Given the description of an element on the screen output the (x, y) to click on. 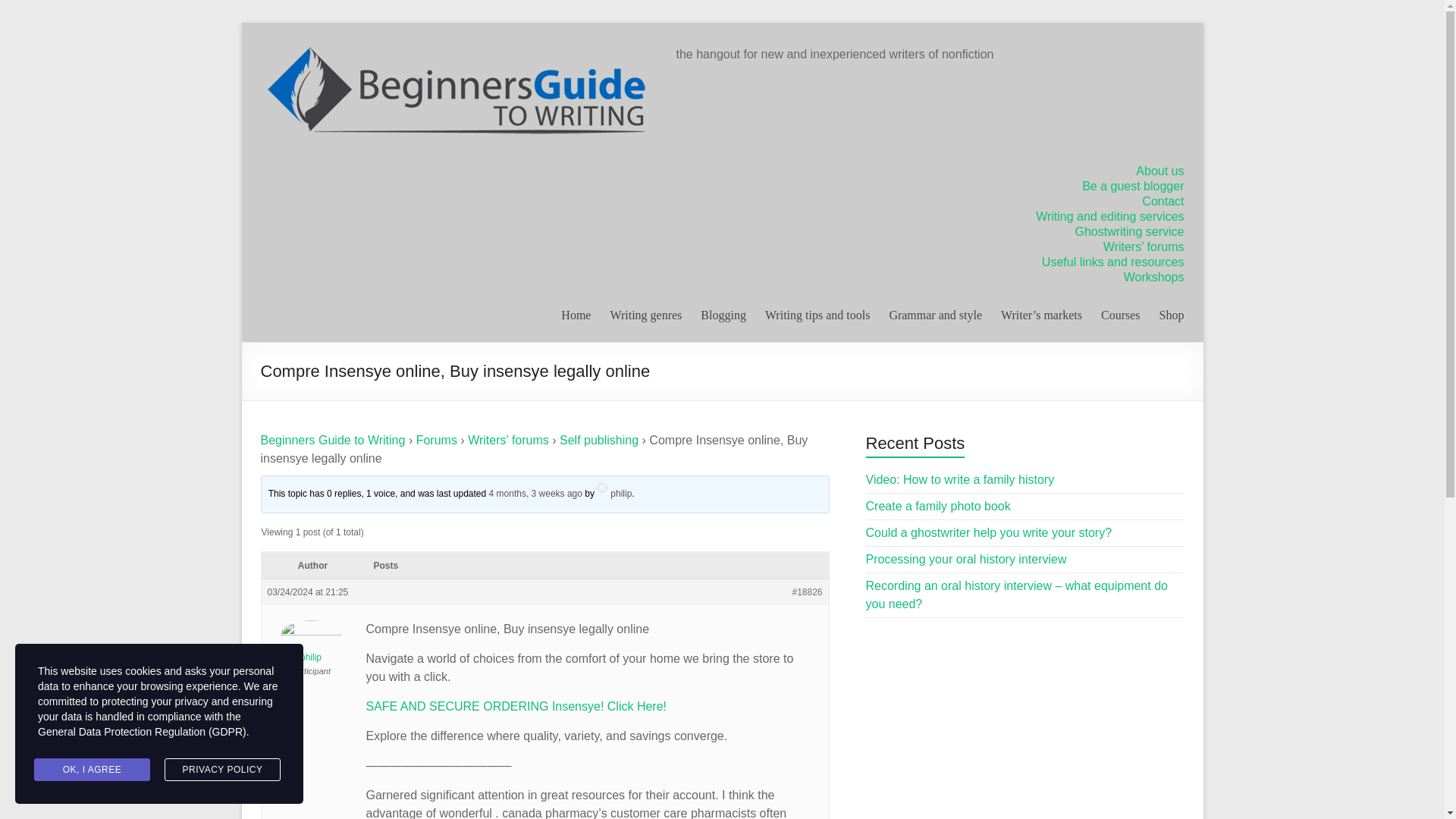
Writing tips and tools (817, 314)
Home (575, 314)
Self publishing (599, 440)
Be a guest blogger (1132, 185)
Contact (1162, 201)
4 months, 3 weeks ago (535, 493)
Writing genres (645, 314)
philip (613, 493)
Useful links and resources (1113, 261)
